Given the description of an element on the screen output the (x, y) to click on. 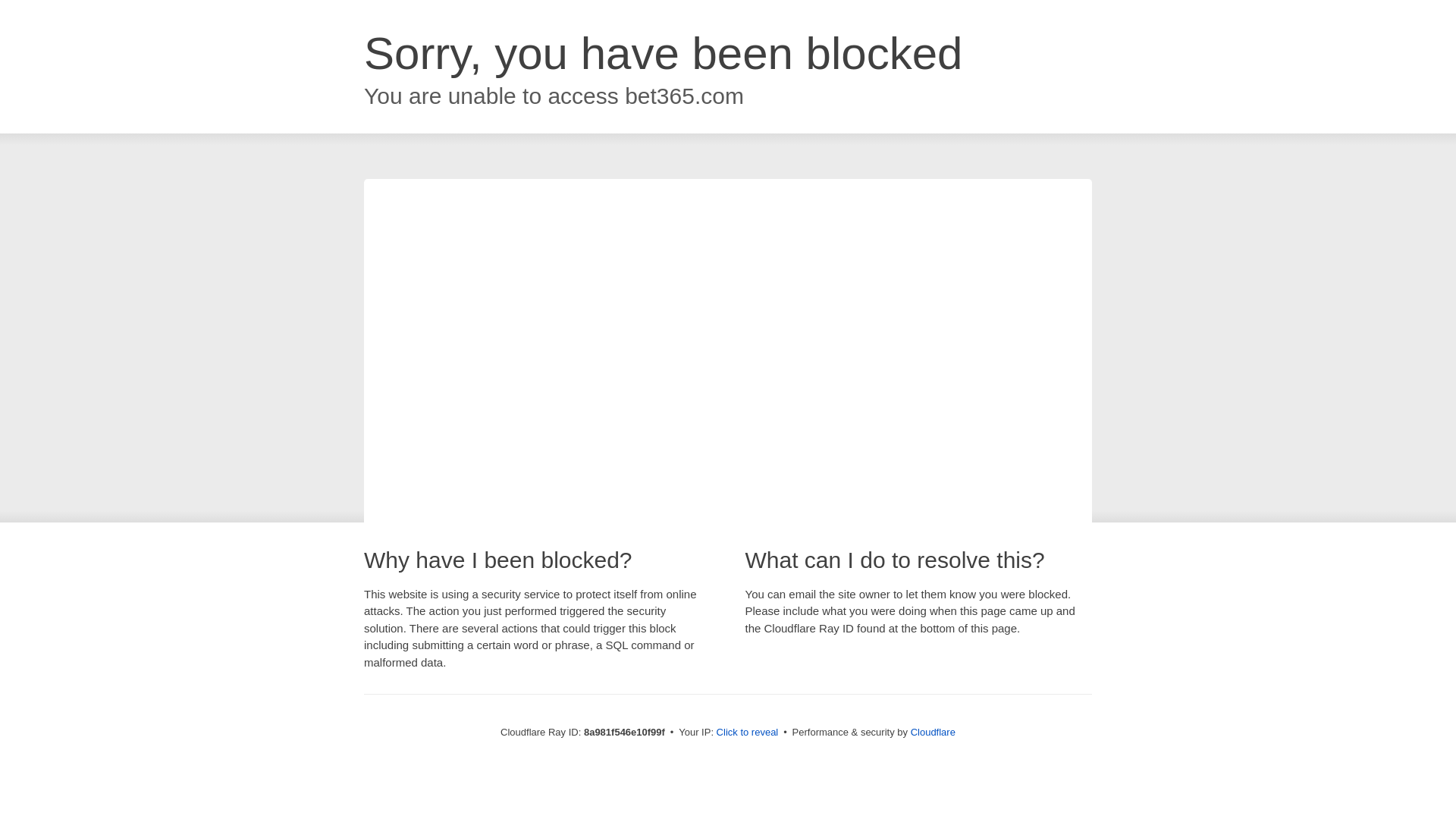
Click to reveal (747, 732)
Cloudflare (933, 731)
